Given the description of an element on the screen output the (x, y) to click on. 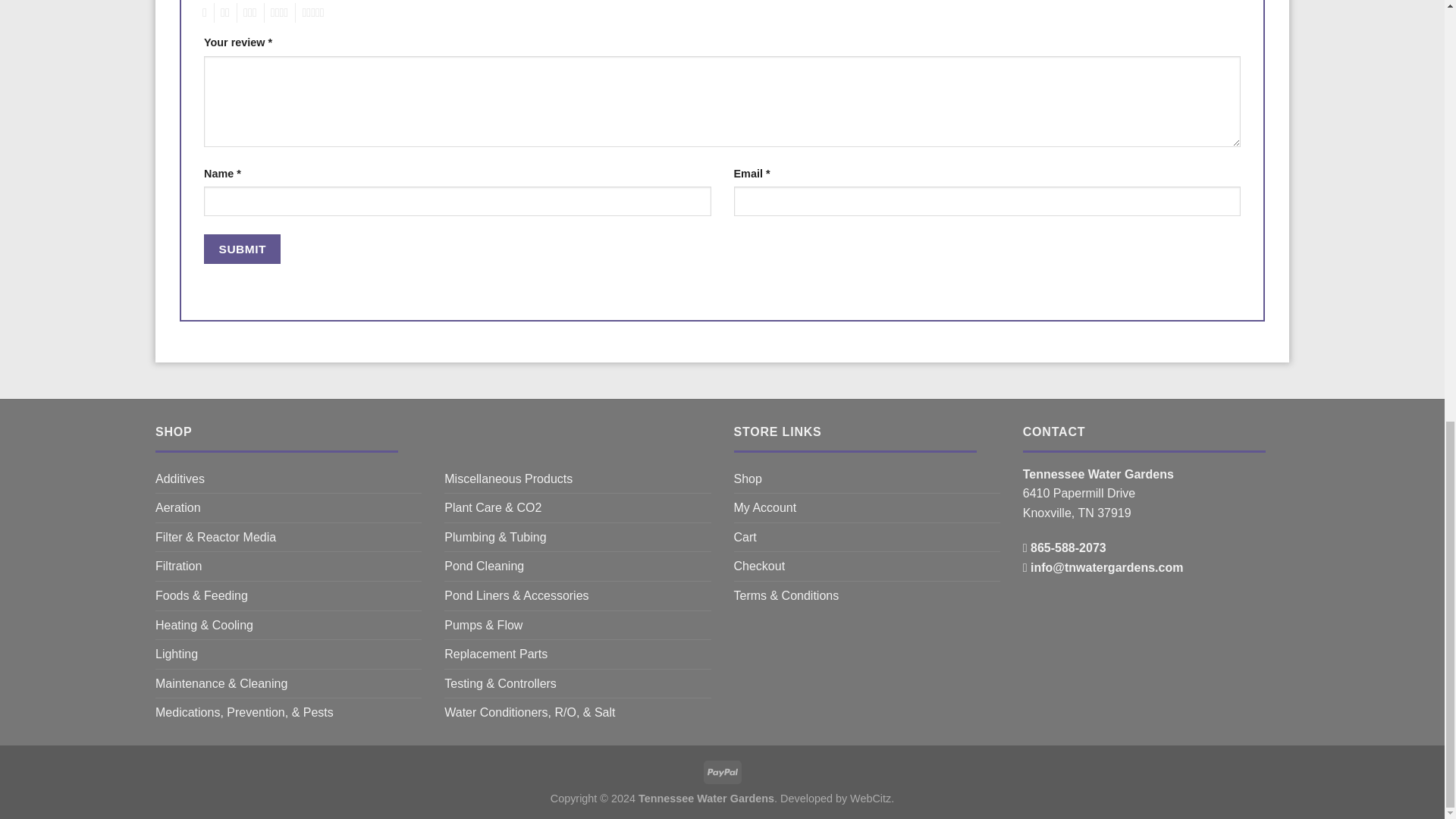
Submit (242, 248)
